Given the description of an element on the screen output the (x, y) to click on. 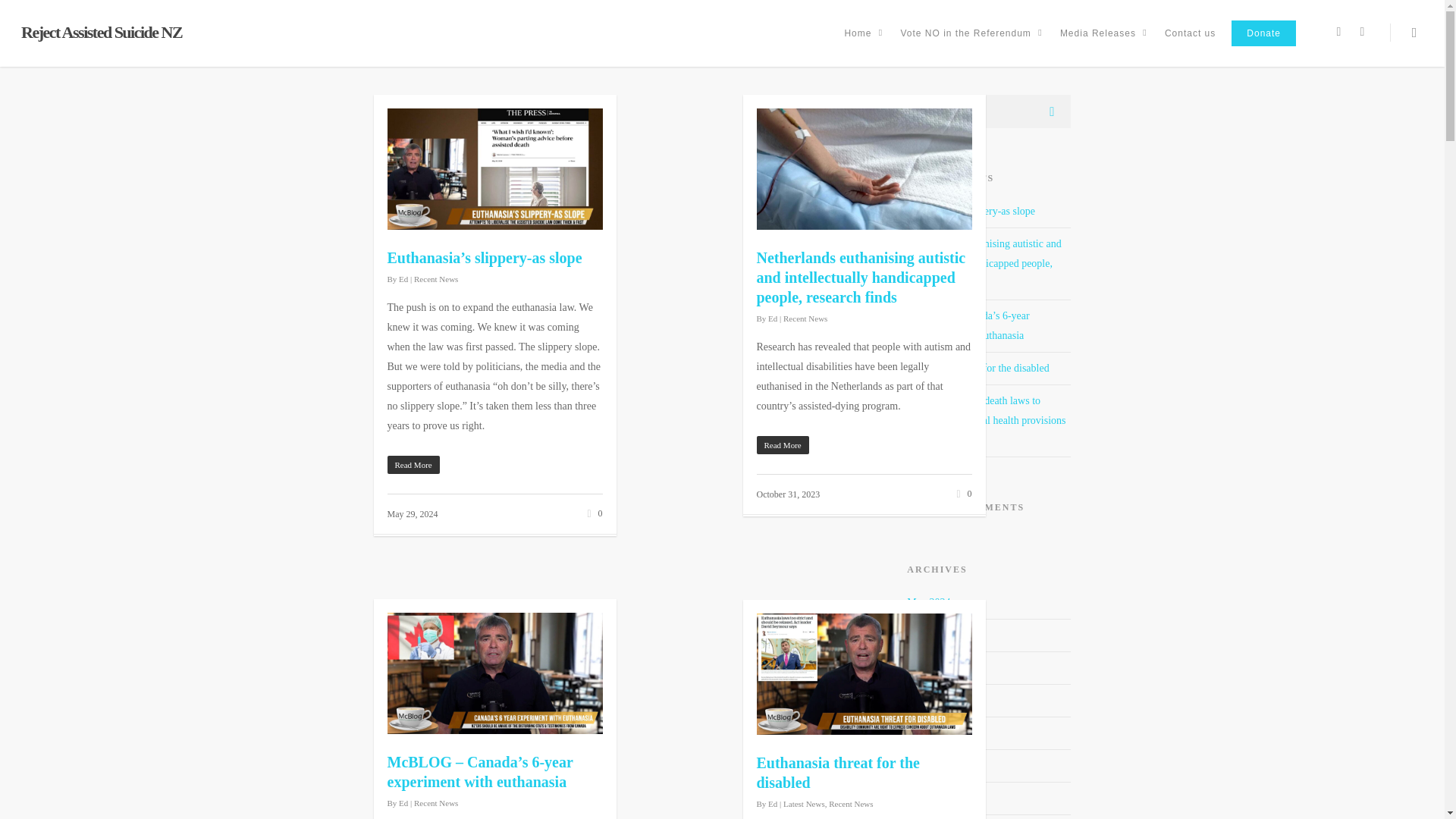
Ed (402, 278)
Donate (1263, 43)
Posts by Ed (402, 802)
Recent News (435, 278)
Read More (494, 465)
0 (591, 511)
Contact us (1190, 43)
Posts by Ed (772, 317)
Ed (402, 802)
Ed (772, 317)
Posts by Ed (402, 278)
Love this (591, 511)
Media Releases (1104, 43)
Recent News (805, 317)
